Given the description of an element on the screen output the (x, y) to click on. 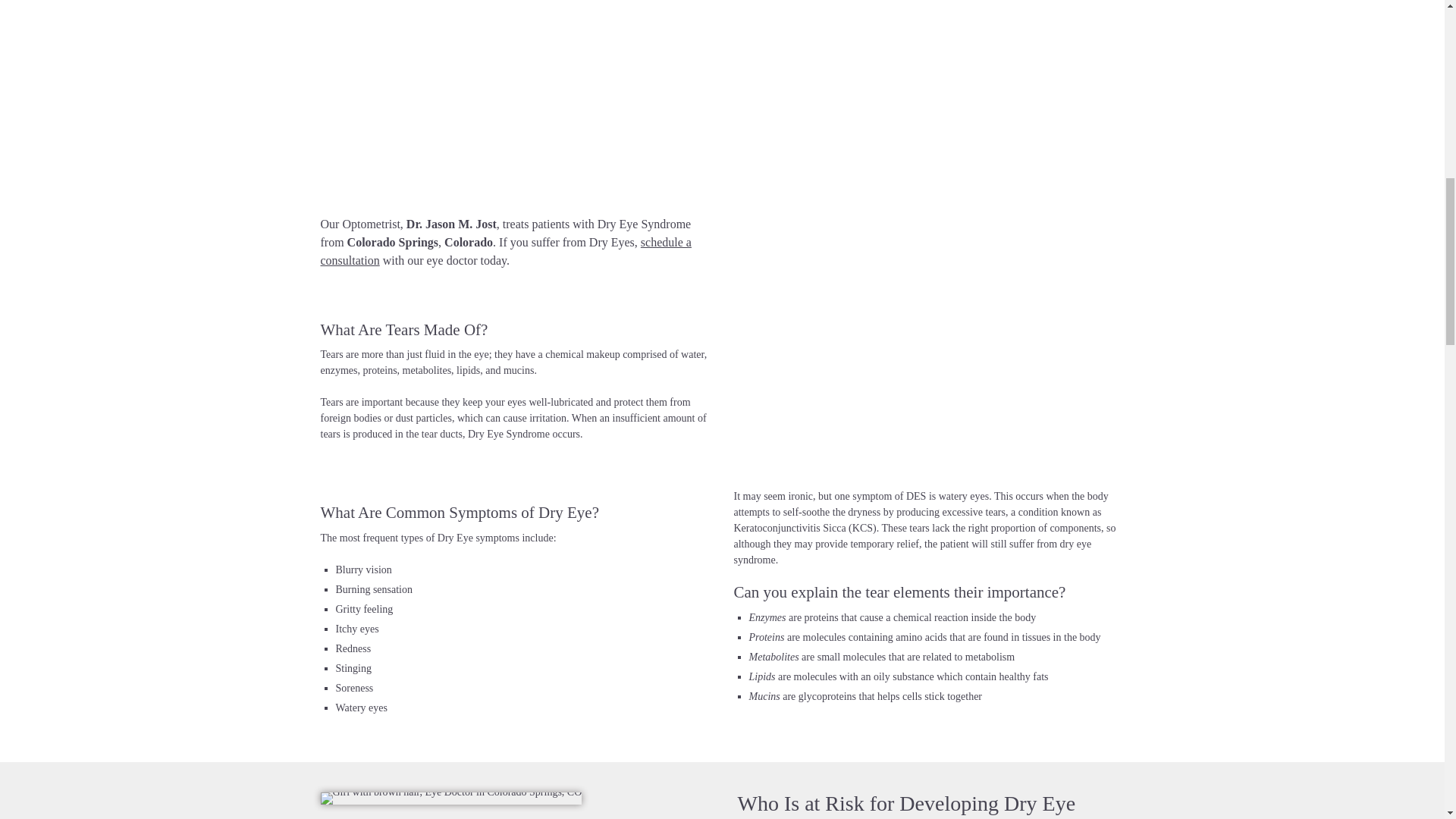
YouTube video player (513, 97)
